Given the description of an element on the screen output the (x, y) to click on. 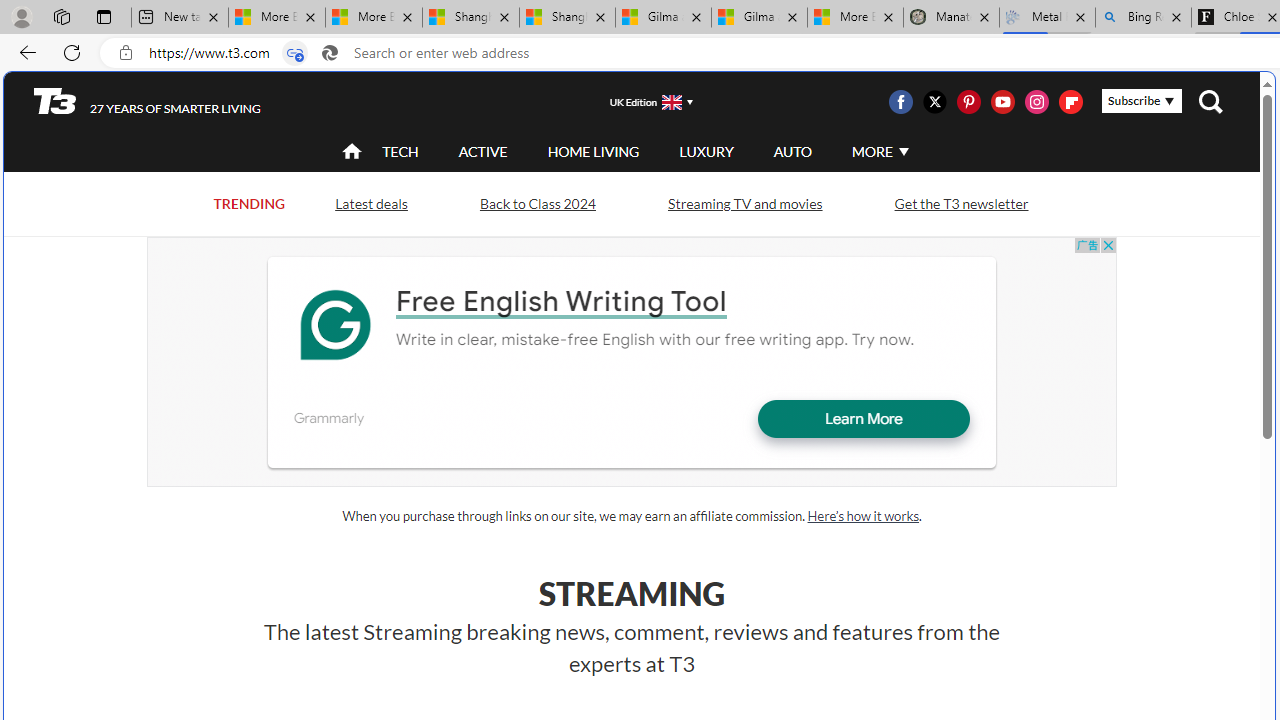
Visit us on Facebook (900, 101)
Streaming TV and movies (744, 202)
Class: navigation__item (350, 151)
AUTO (792, 151)
ACTIVE (483, 151)
Class: navigation__search (1210, 101)
MORE  (878, 151)
HOME LIVING (593, 151)
ACTIVE (483, 151)
Get the T3 newsletter (960, 204)
Visit us on Pintrest (968, 101)
Visit us on Twitter (934, 101)
